Given the description of an element on the screen output the (x, y) to click on. 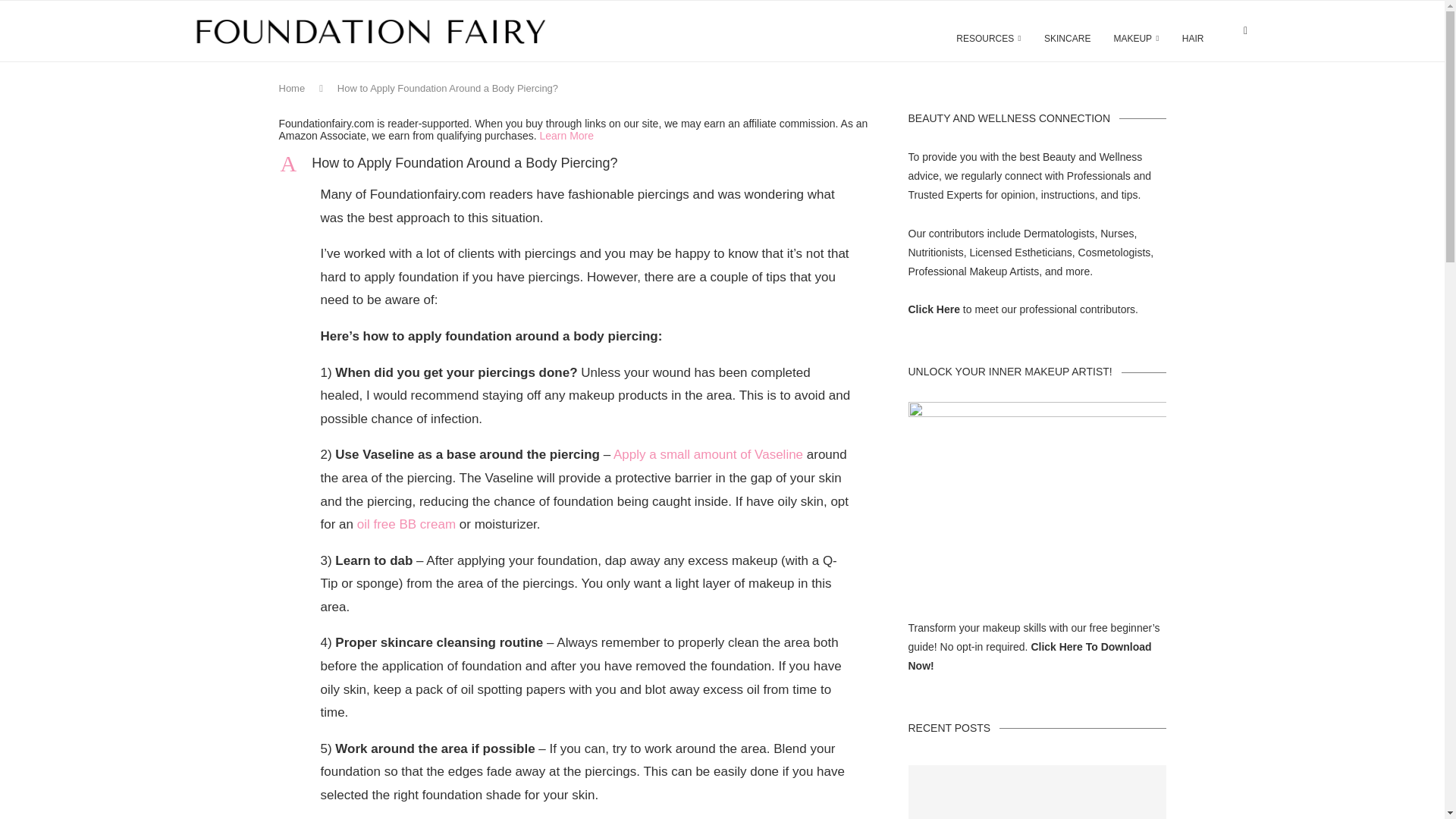
Click Here (574, 163)
oil free BB cream (933, 309)
Learn More (405, 523)
RESOURCES (566, 135)
Apply a small amount of Vaseline (989, 38)
Home (707, 454)
Click Here To Download Now! (292, 88)
